Given the description of an element on the screen output the (x, y) to click on. 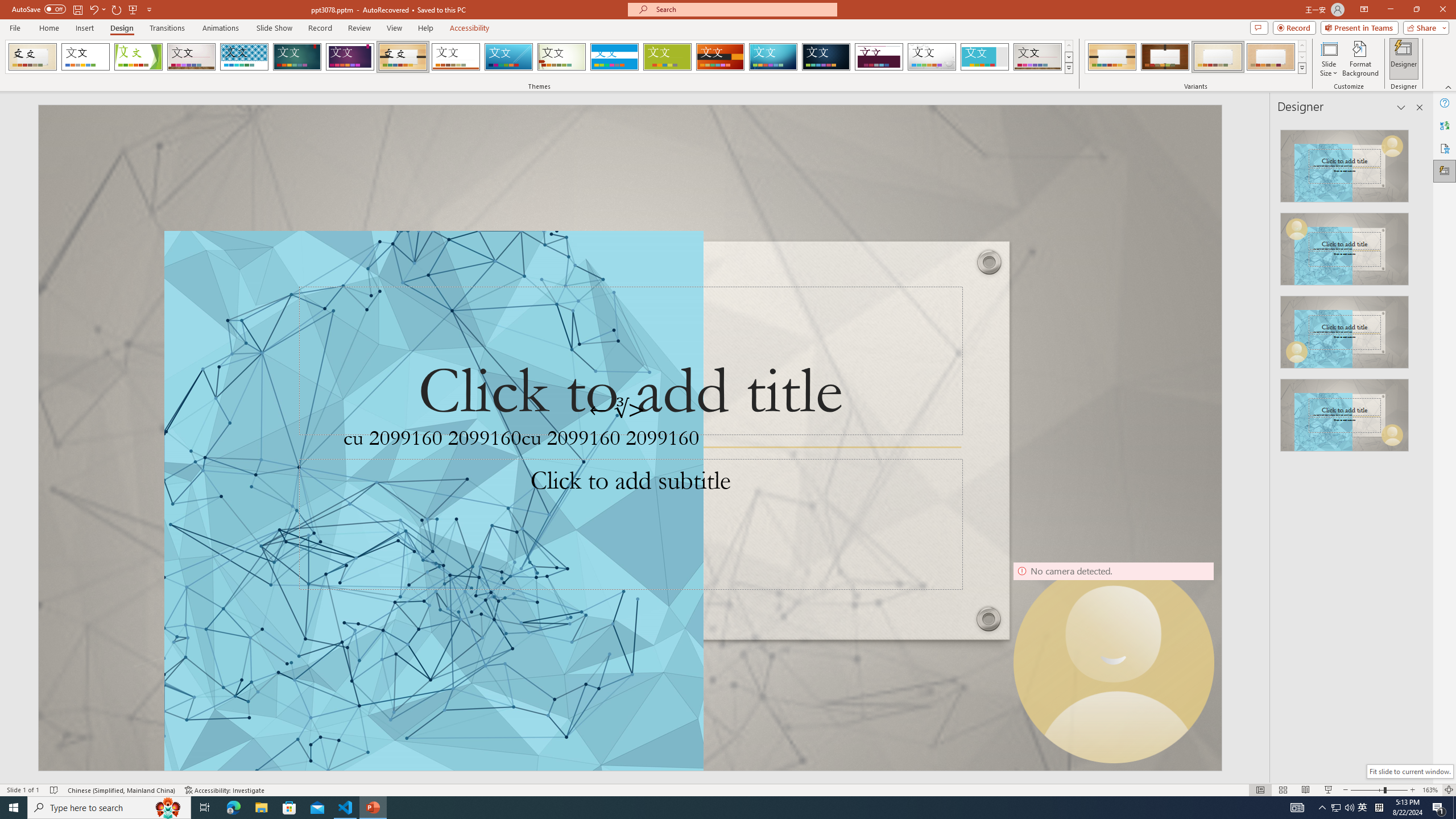
Wisp (561, 56)
Transitions (167, 28)
Class: MsoCommandBar (728, 789)
Organic Variant 3 (1217, 56)
Retrospect (455, 56)
Organic Variant 2 (1164, 56)
Quick Access Toolbar (82, 9)
Subtitle TextBox (630, 523)
TextBox 61 (628, 440)
Facet (138, 56)
